Given the description of an element on the screen output the (x, y) to click on. 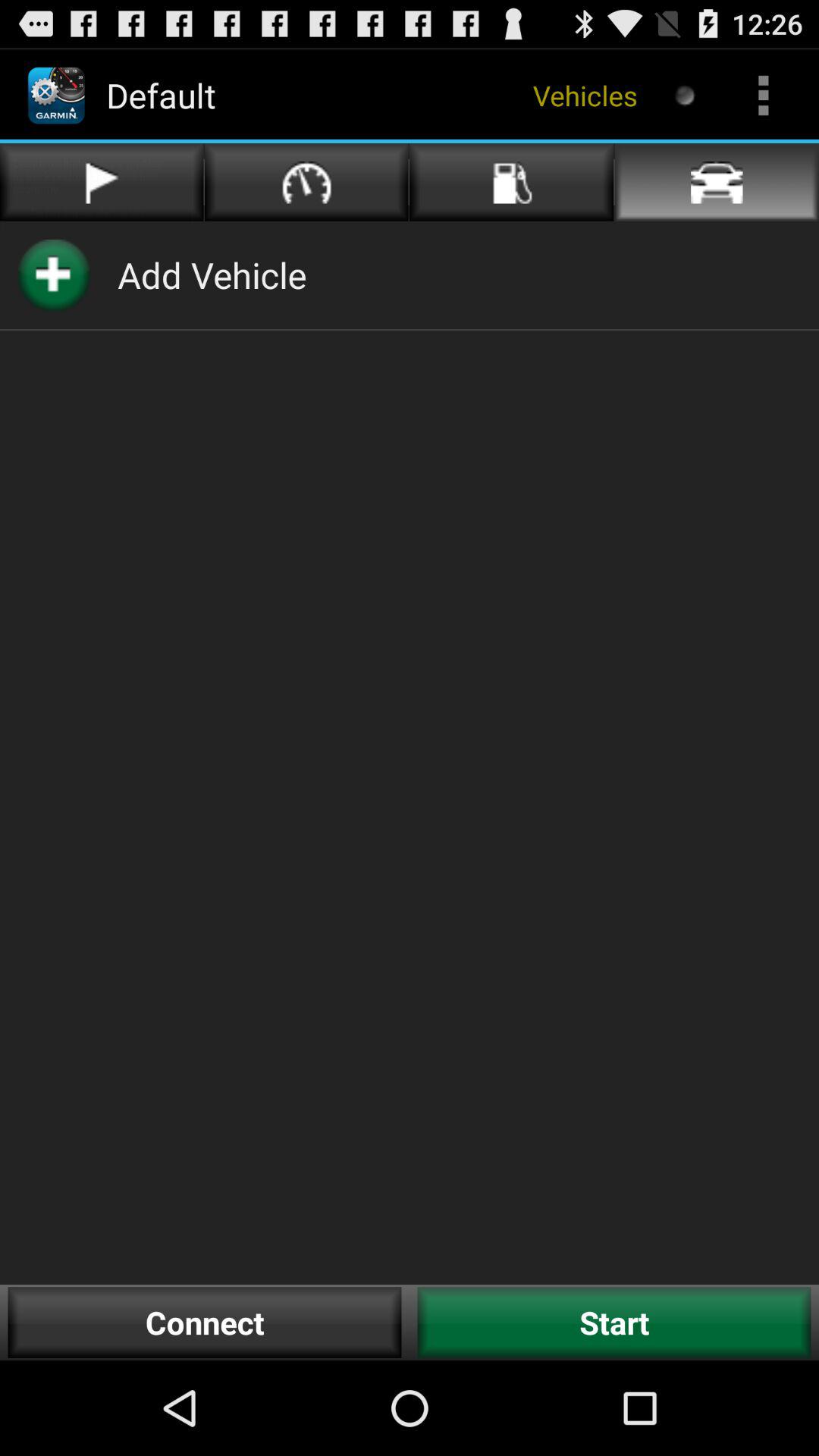
press button above connect (211, 274)
